Given the description of an element on the screen output the (x, y) to click on. 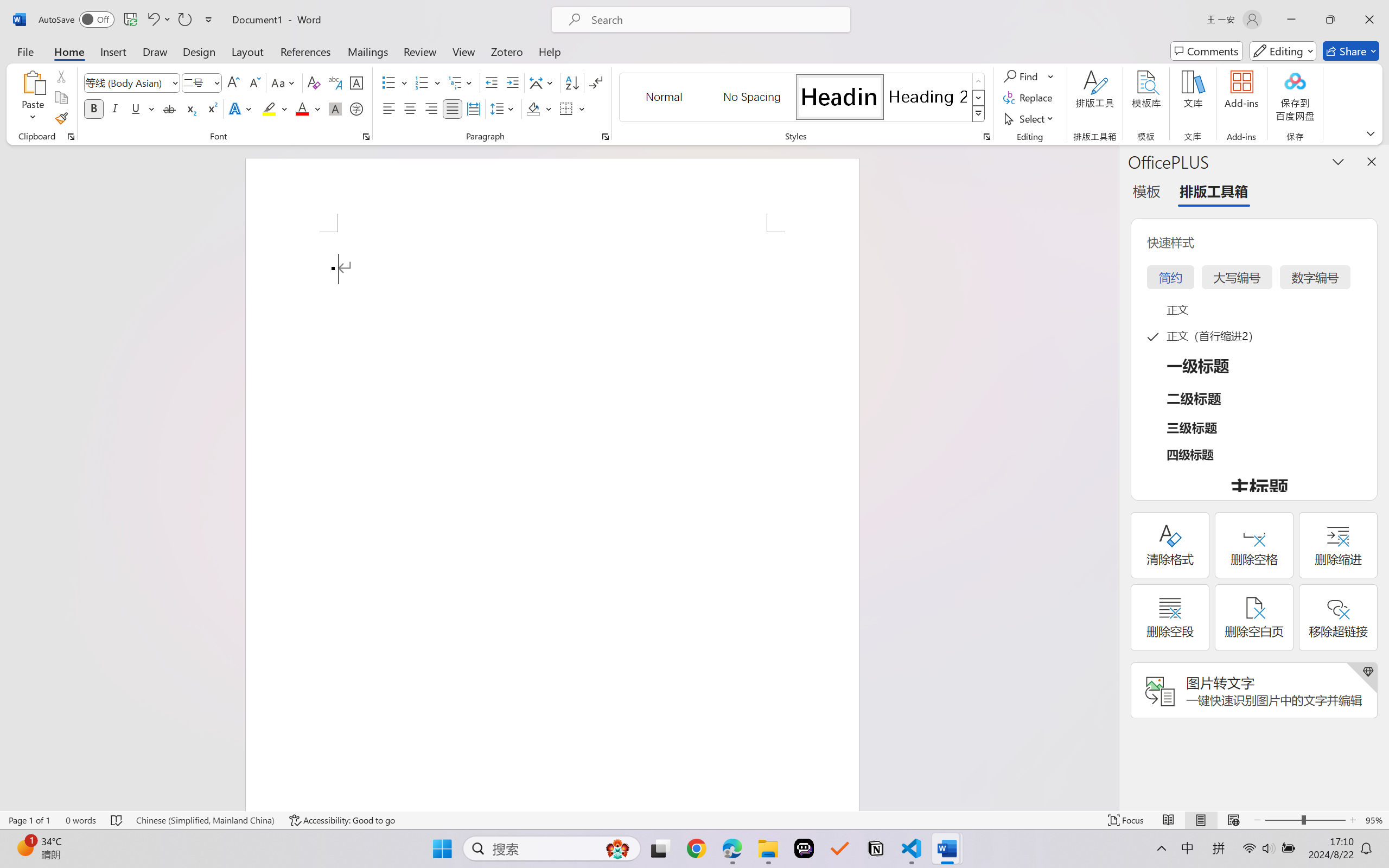
Undo Apply Quick Style (158, 19)
